Given the description of an element on the screen output the (x, y) to click on. 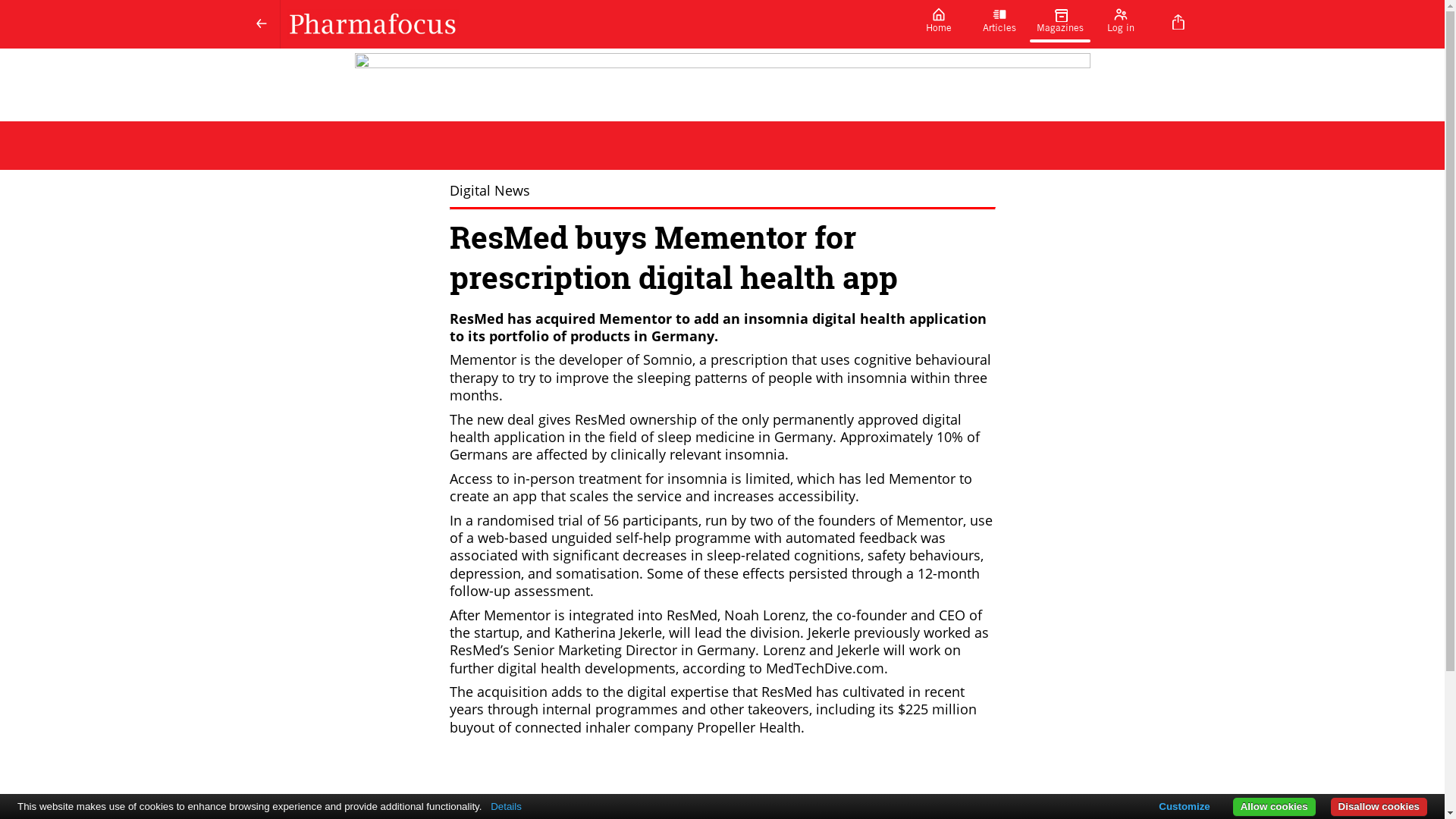
Customize (1184, 806)
Disallow cookies (1378, 806)
Log in (1120, 24)
Allow cookies (1274, 806)
Details (505, 806)
Magazines (1059, 24)
MedTechDive.com (824, 668)
Home (938, 24)
Articles (999, 24)
